Given the description of an element on the screen output the (x, y) to click on. 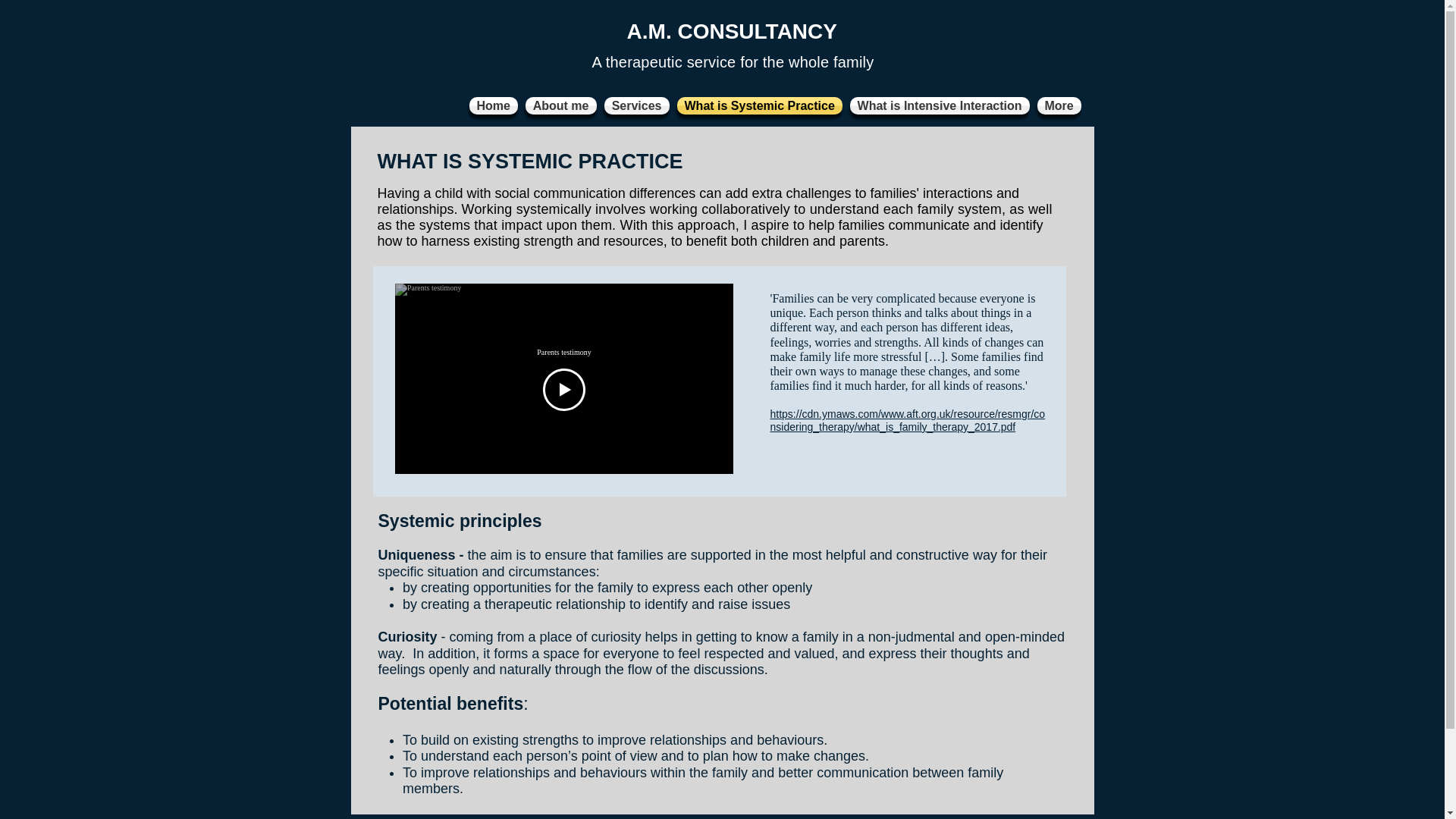
About me (560, 105)
What is Intensive Interaction (939, 105)
Home (493, 105)
What is Systemic Practice (758, 105)
Parents testimony (563, 351)
Services (635, 105)
